Given the description of an element on the screen output the (x, y) to click on. 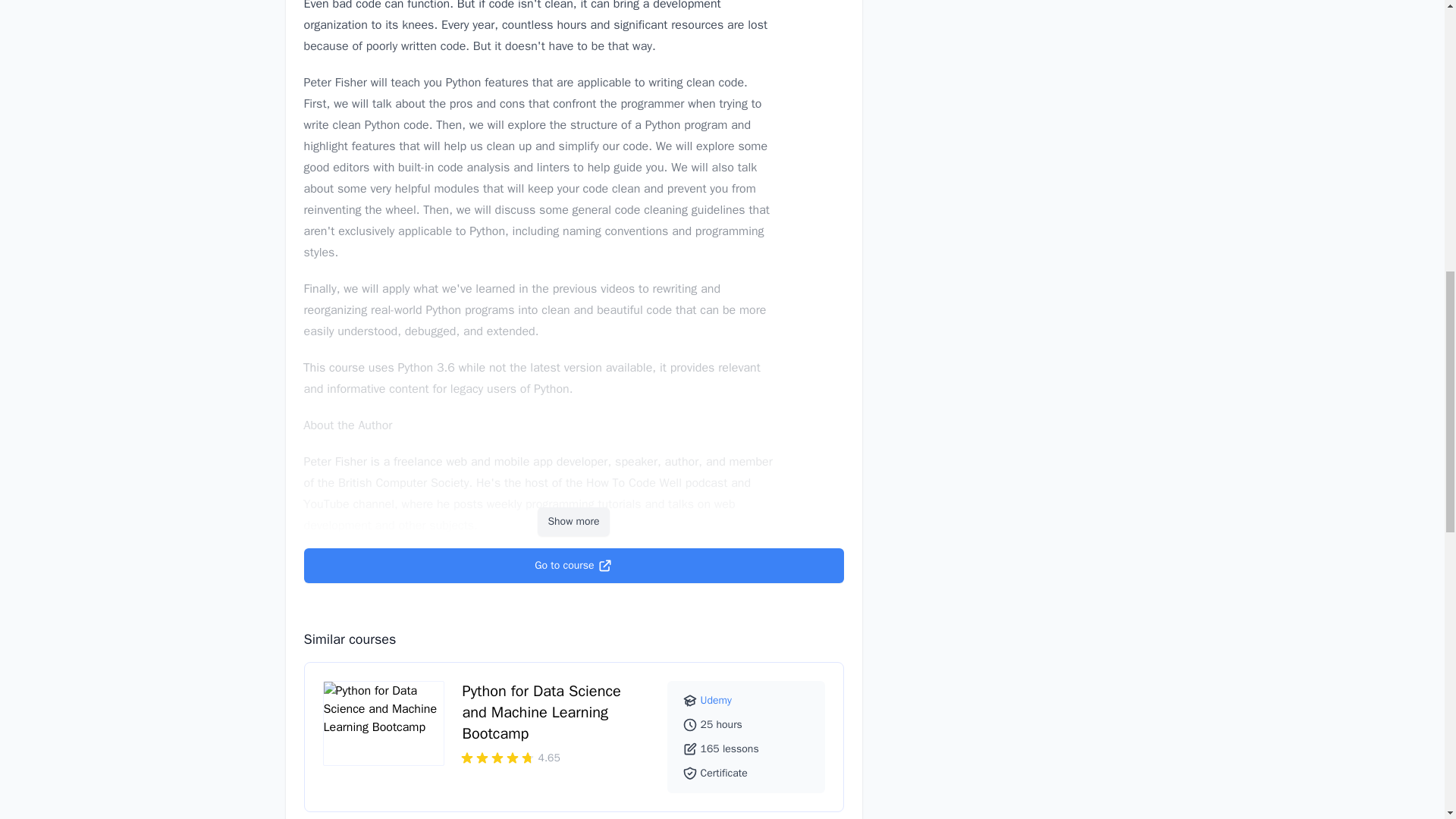
Python for Data Science and Machine Learning Bootcamp (542, 711)
Go to course (572, 565)
Udemy (716, 699)
Show more (572, 521)
